Given the description of an element on the screen output the (x, y) to click on. 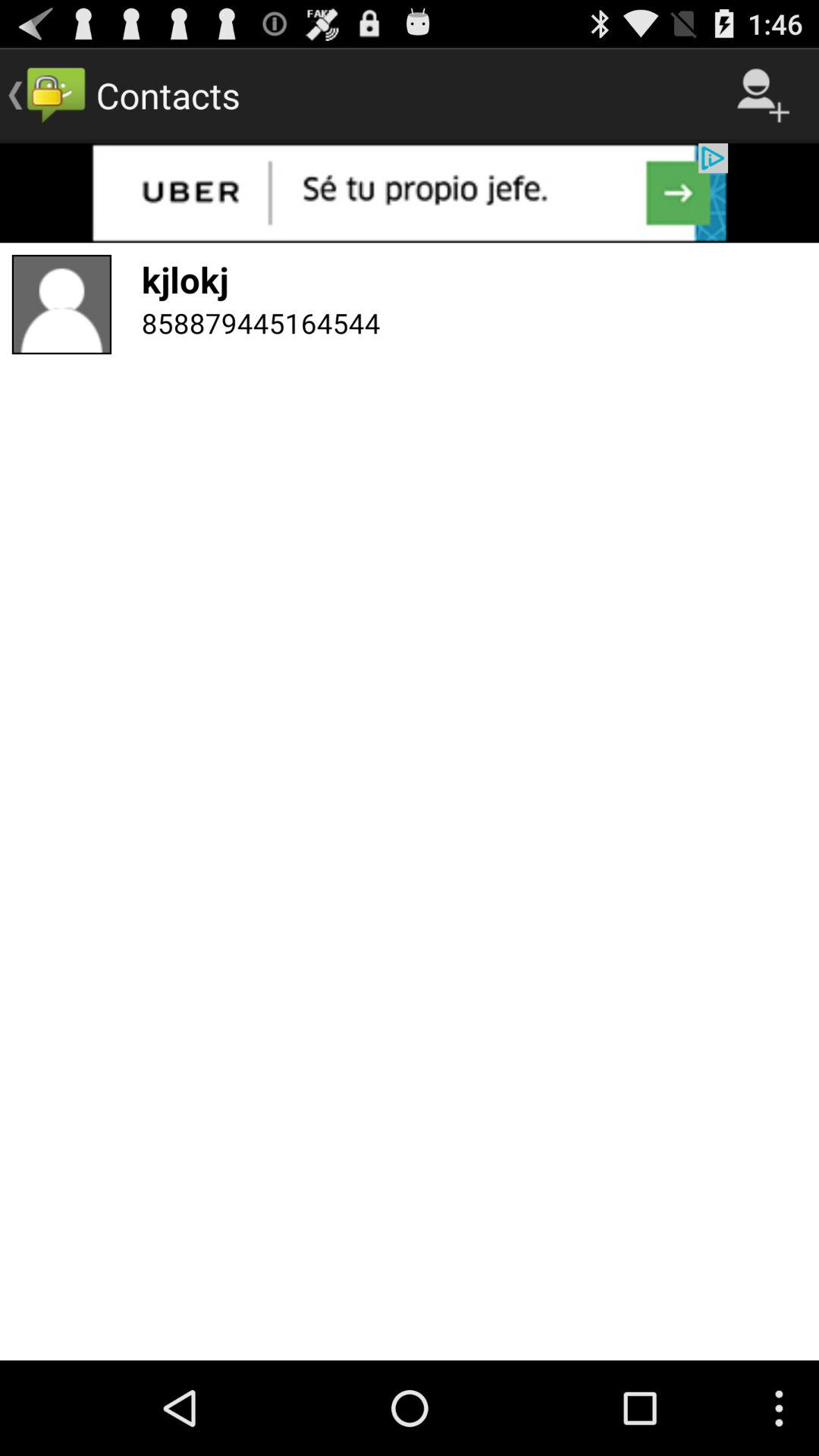
uber (409, 192)
